Given the description of an element on the screen output the (x, y) to click on. 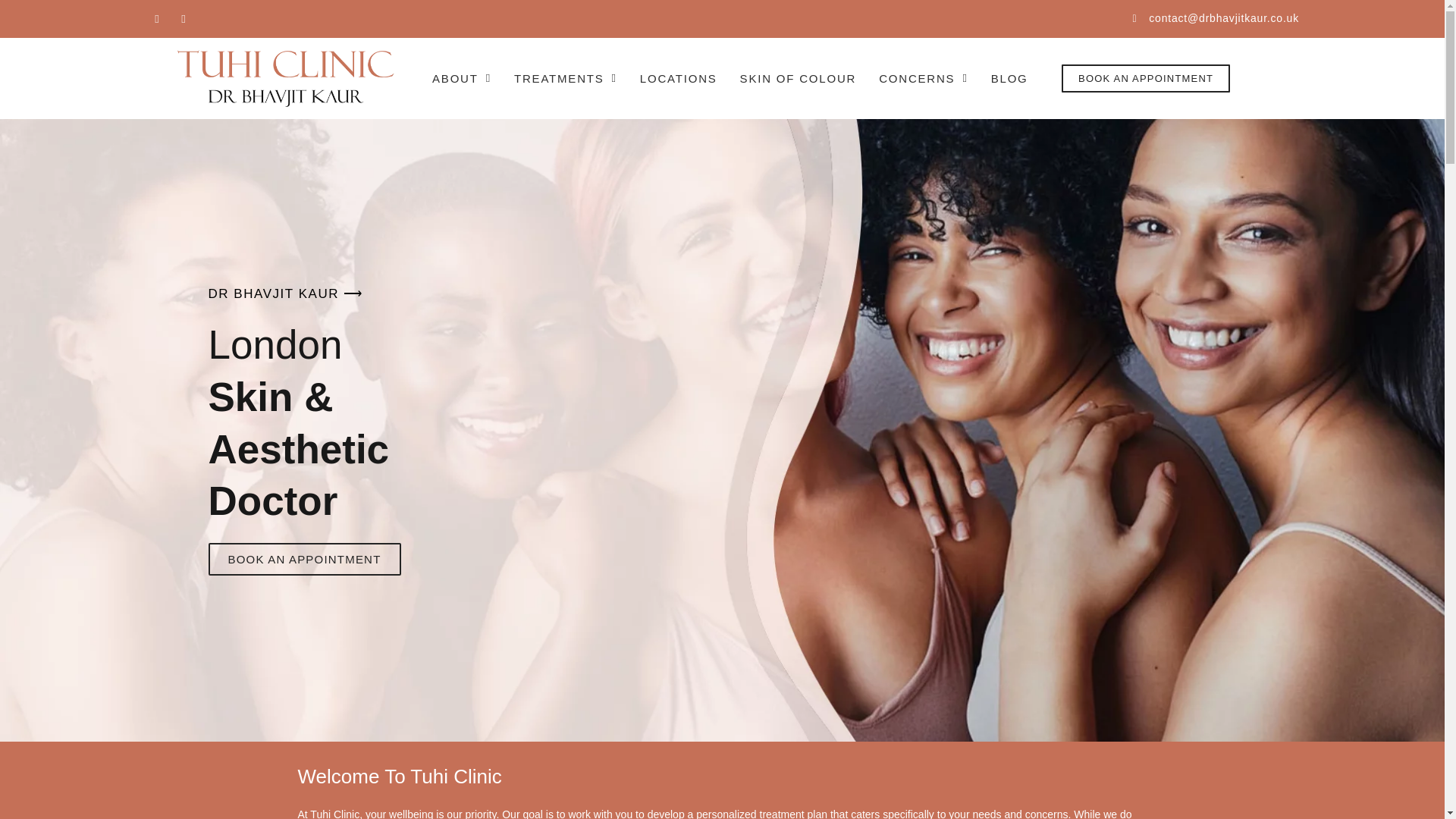
LOCATIONS (678, 78)
SKIN OF COLOUR (798, 78)
CONCERNS (923, 78)
ABOUT (461, 78)
TREATMENTS (565, 78)
